Given the description of an element on the screen output the (x, y) to click on. 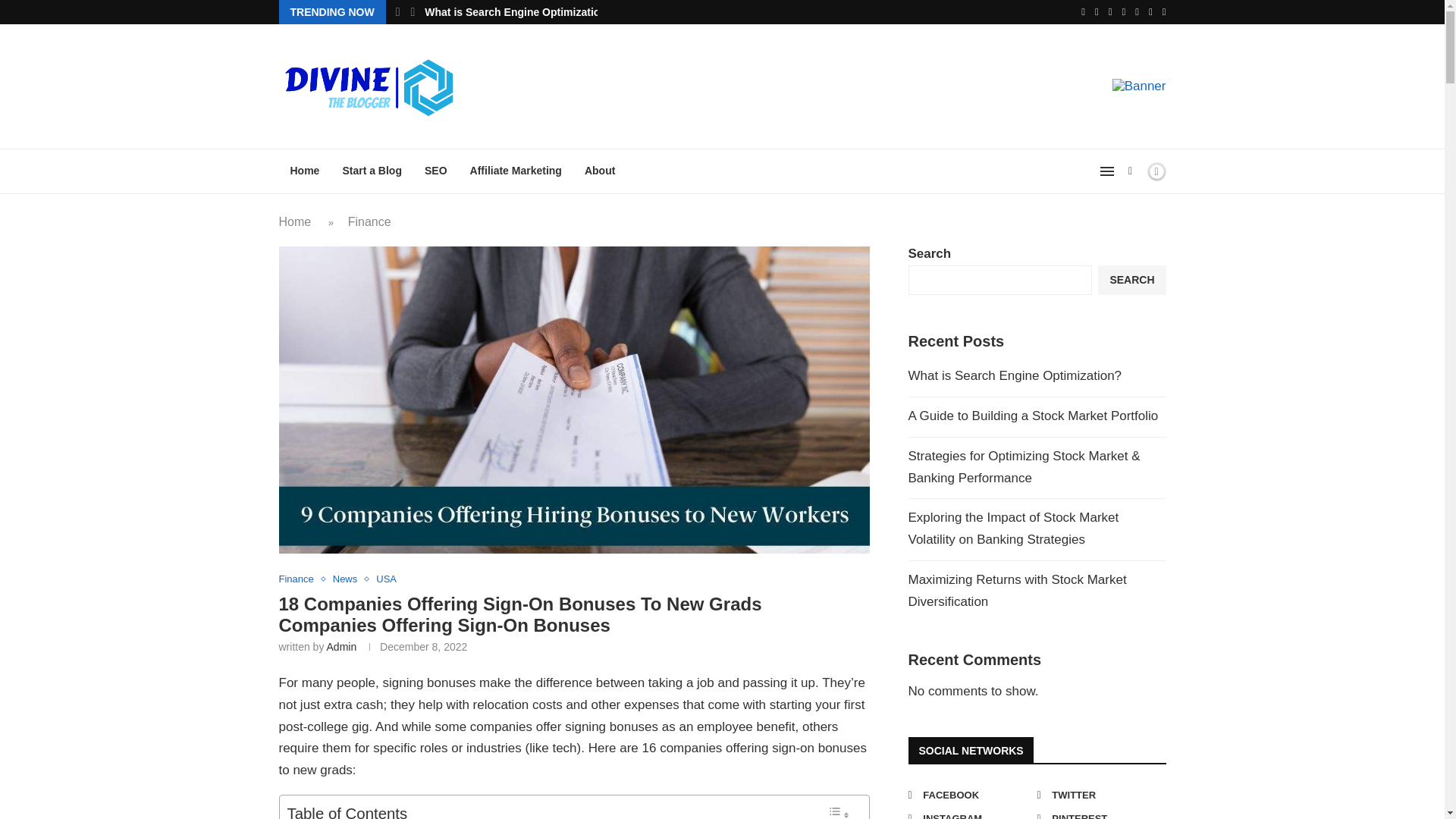
Affiliate Marketing (515, 171)
What is Search Engine Optimization? (518, 12)
Finance (369, 221)
Finance (300, 579)
Start a Blog (371, 171)
USA (385, 579)
News (349, 579)
SEO (435, 171)
About (599, 171)
Home (305, 171)
Home (295, 221)
Admin (341, 646)
